Given the description of an element on the screen output the (x, y) to click on. 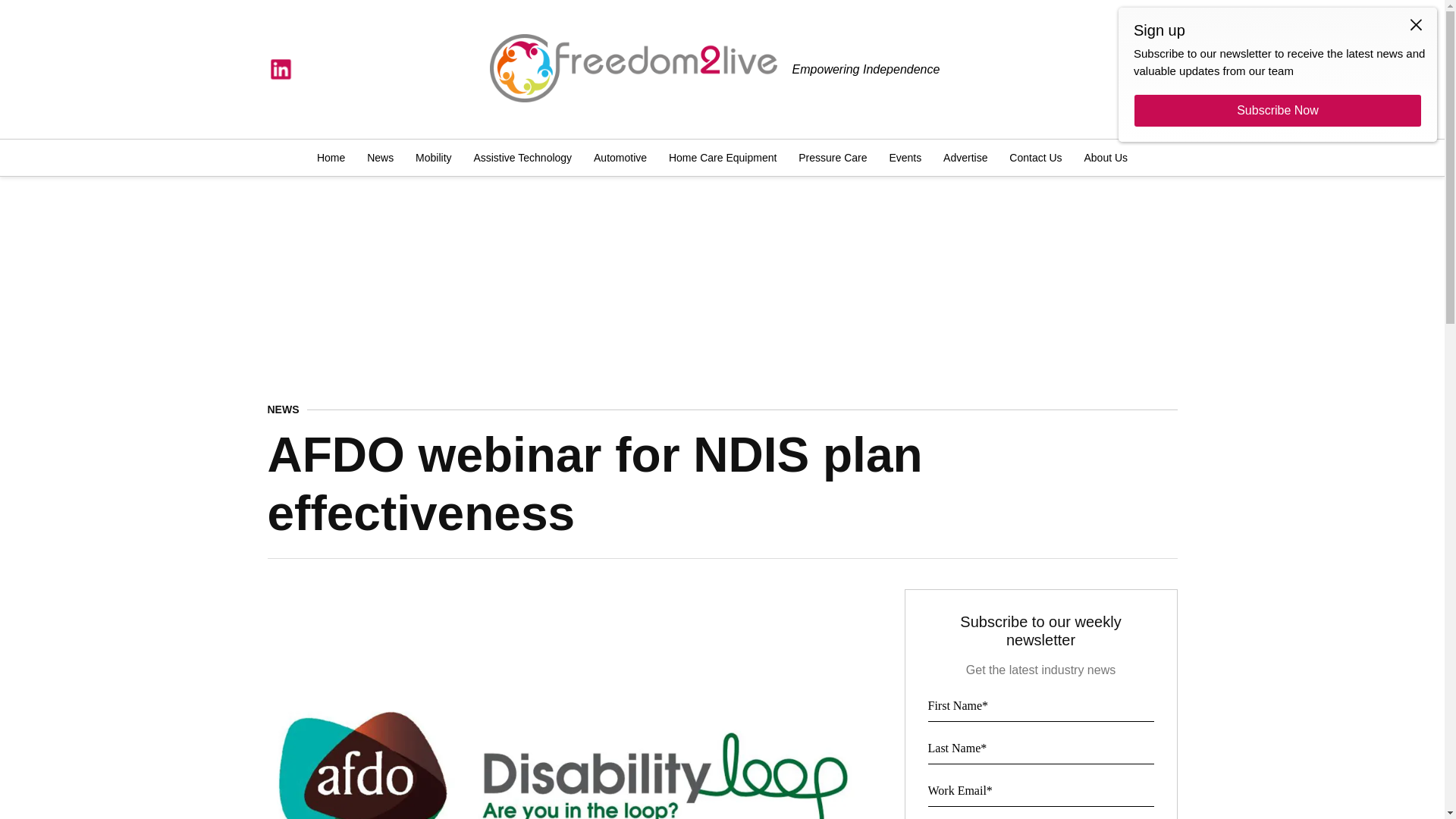
Events (904, 157)
About Us (1102, 157)
Home Care Equipment (722, 157)
News (380, 157)
linkedin (280, 69)
Pressure Care (832, 157)
Contact Us (1034, 157)
Assistive Technology (522, 157)
Popup CTA (1277, 74)
Automotive (619, 157)
Advertise (965, 157)
Home (334, 157)
Mobility (432, 157)
